Given the description of an element on the screen output the (x, y) to click on. 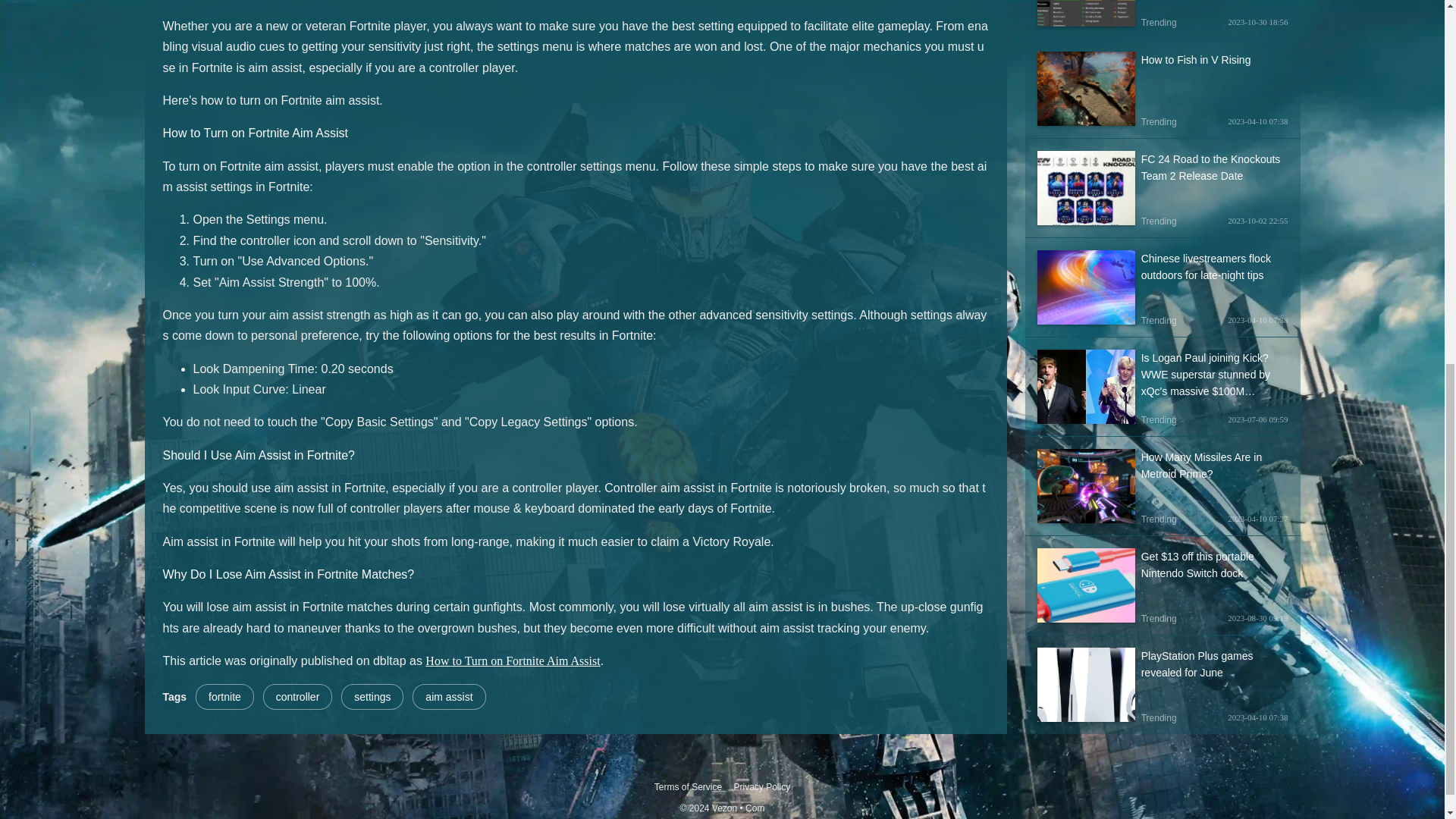
aim assist (448, 696)
fortnite (224, 696)
How to Turn on Fortnite Aim Assist (512, 660)
controller (298, 696)
Terms of Service (687, 786)
settings (371, 696)
Privacy Policy (761, 786)
